Given the description of an element on the screen output the (x, y) to click on. 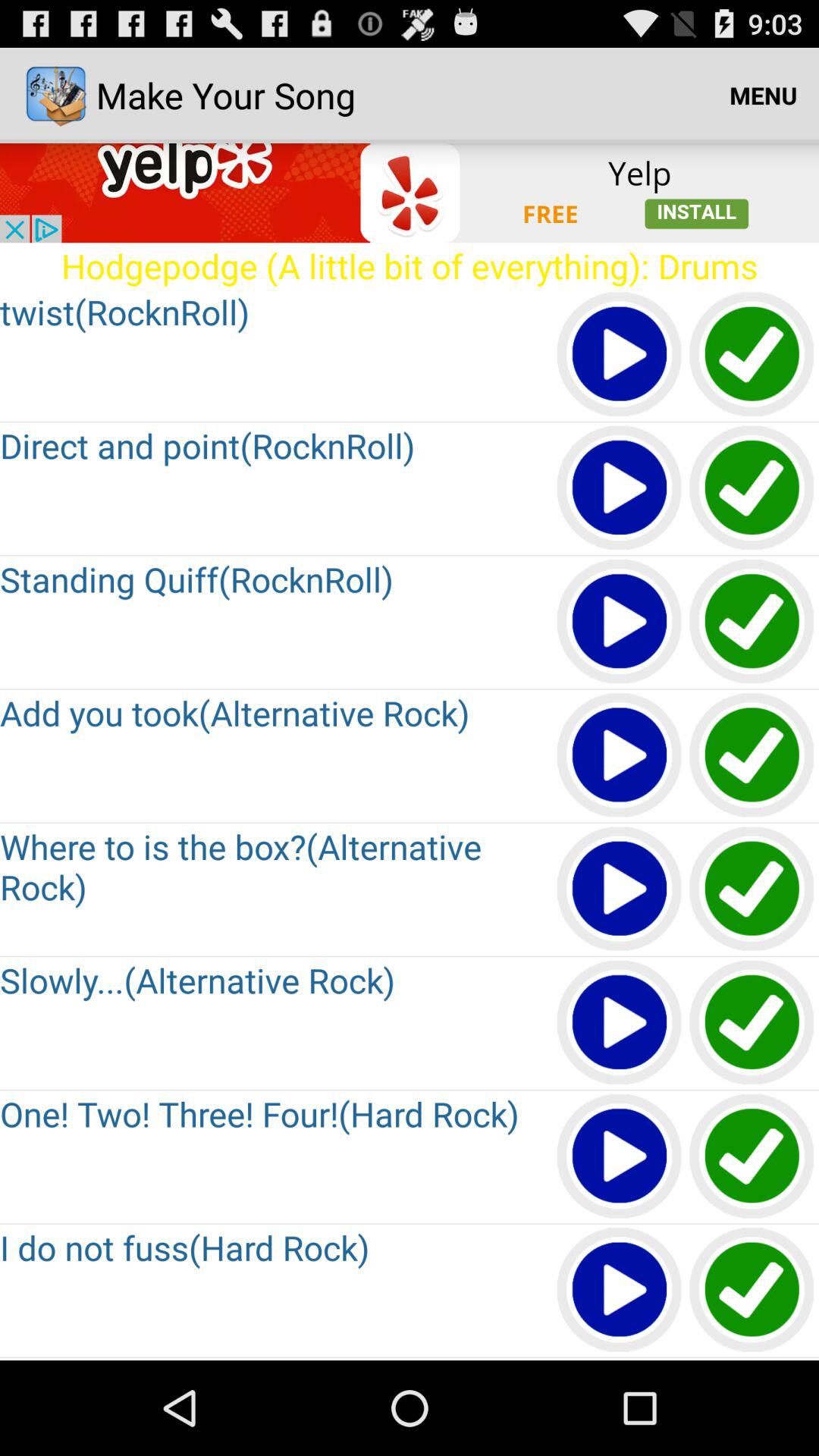
play song (619, 755)
